Given the description of an element on the screen output the (x, y) to click on. 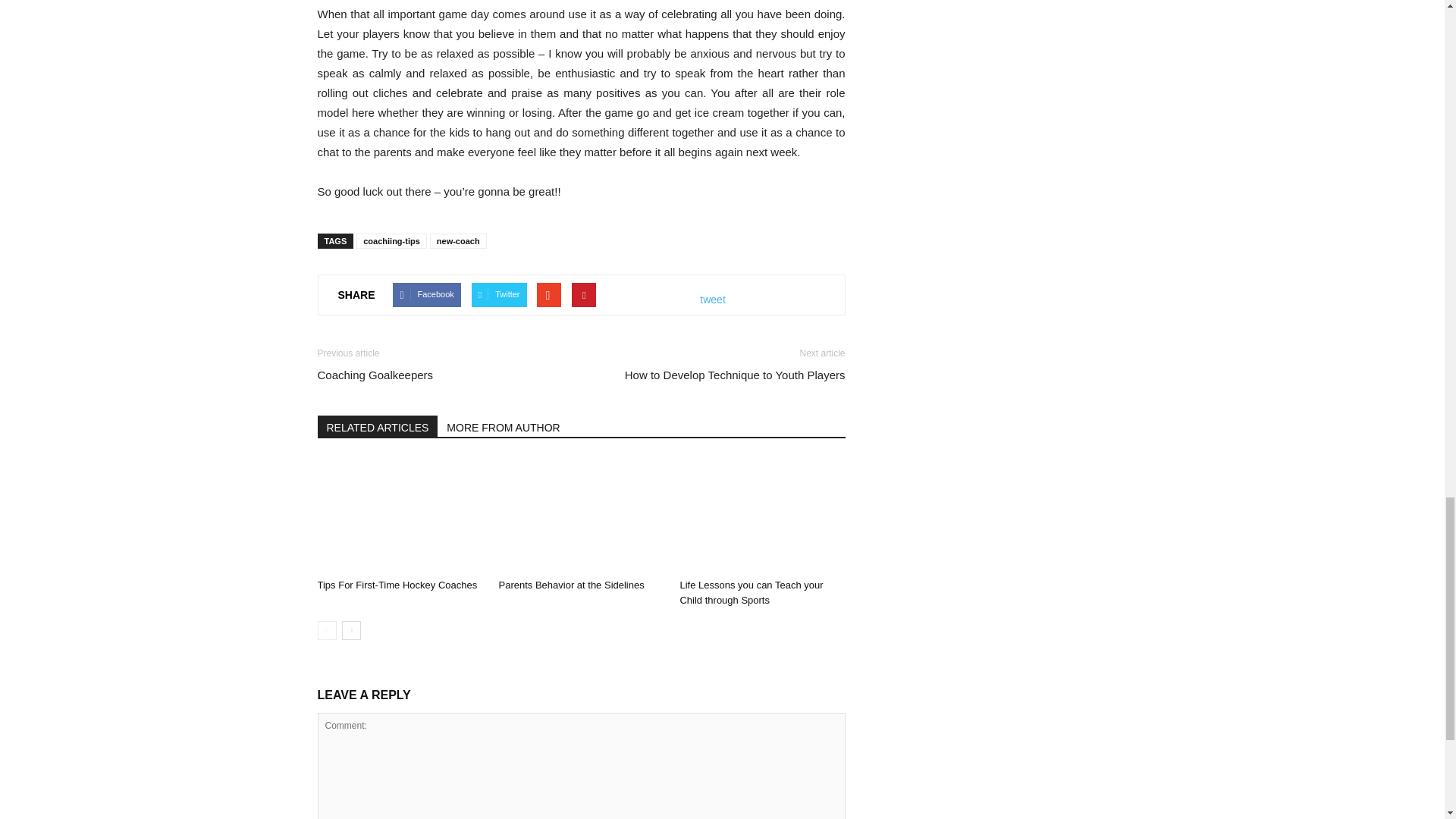
Parents Behavior at the Sidelines (580, 515)
Tips For First-Time Hockey Coaches (399, 515)
Tips For First-Time Hockey Coaches (397, 584)
Parents Behavior at the Sidelines (570, 584)
coachiing-tips (391, 240)
Life Lessons you can Teach your Child through Sports (761, 515)
